Given the description of an element on the screen output the (x, y) to click on. 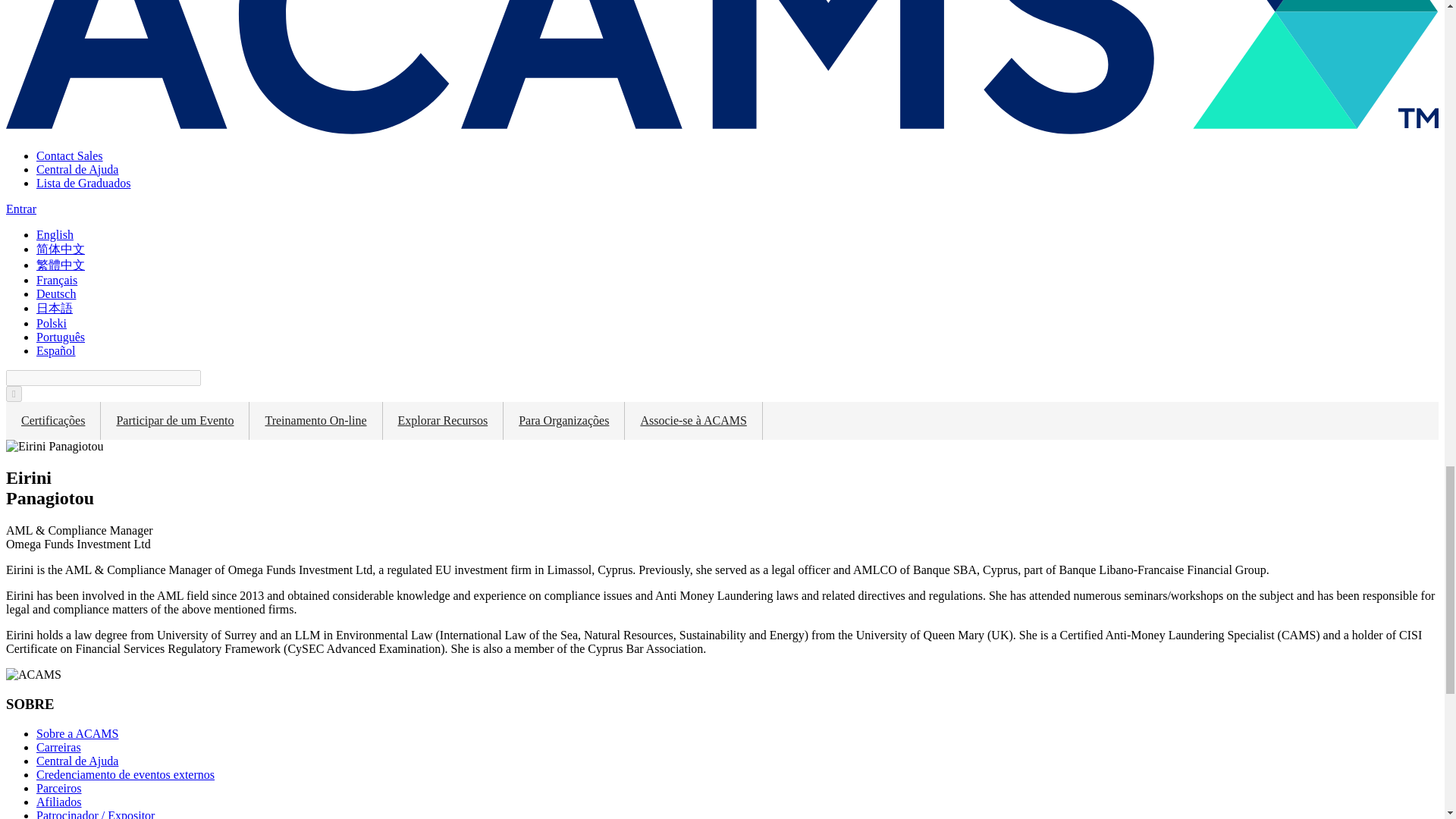
Participar de um Evento (174, 420)
